Given the description of an element on the screen output the (x, y) to click on. 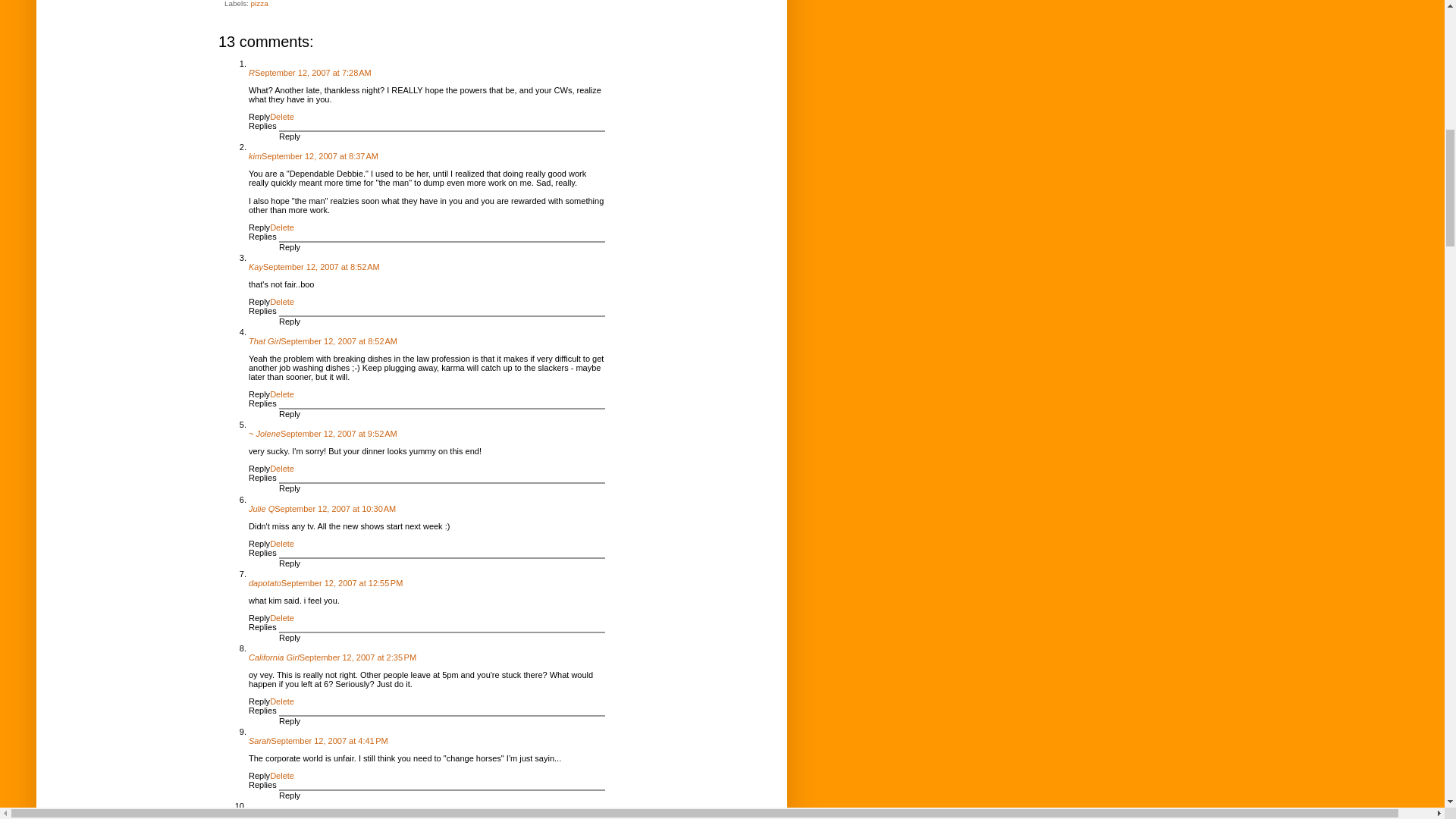
Delete (281, 226)
Delete (281, 116)
Reply (289, 135)
Kay (255, 266)
pizza (258, 3)
Replies (262, 125)
Reply (289, 246)
Delete (281, 301)
Reply (258, 116)
Reply (258, 226)
kim (255, 155)
Replies (262, 235)
